Given the description of an element on the screen output the (x, y) to click on. 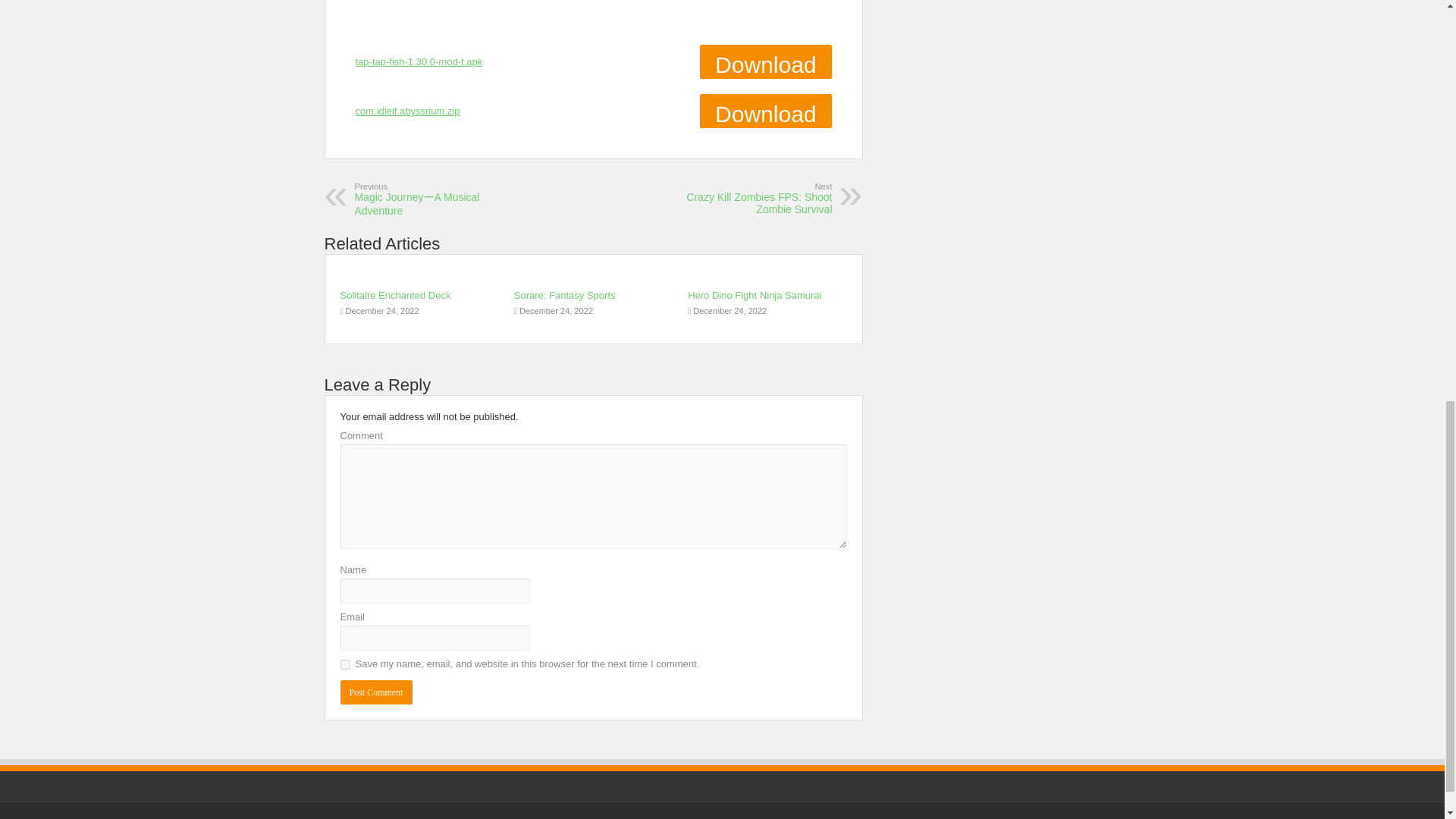
Sorare: Fantasy Sports (564, 295)
Post Comment (375, 692)
Download (765, 61)
Scroll To Top (1421, 60)
yes (344, 664)
Solitaire Enchanted Deck (394, 295)
tap-tap-fish-1.30.0-mod-t.apk (754, 198)
com.idleif.abyssrium.zip (418, 61)
Download (407, 111)
